Given the description of an element on the screen output the (x, y) to click on. 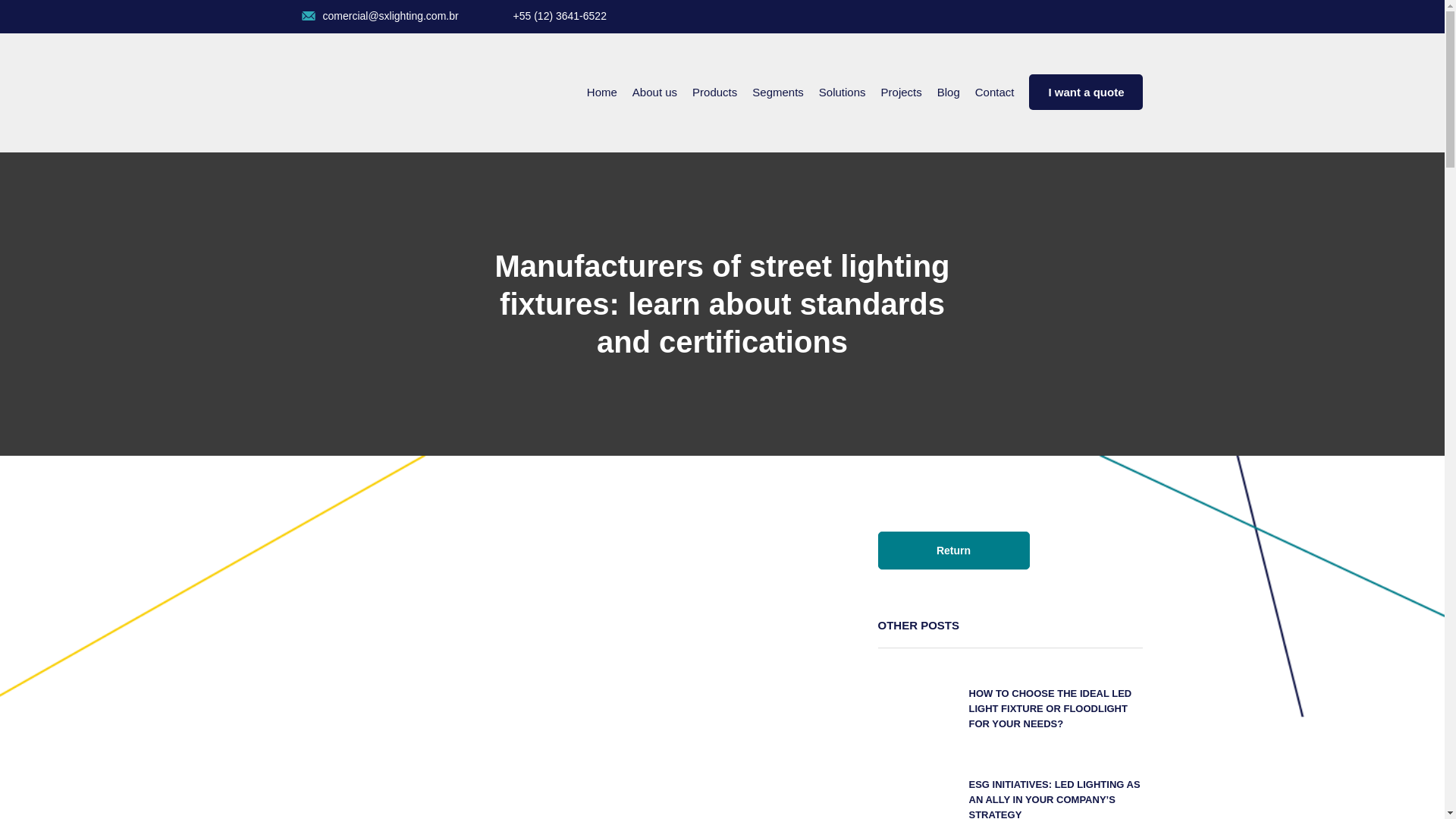
About us (654, 91)
Solutions (842, 91)
Segments (777, 91)
Products (714, 91)
Home (601, 91)
